Given the description of an element on the screen output the (x, y) to click on. 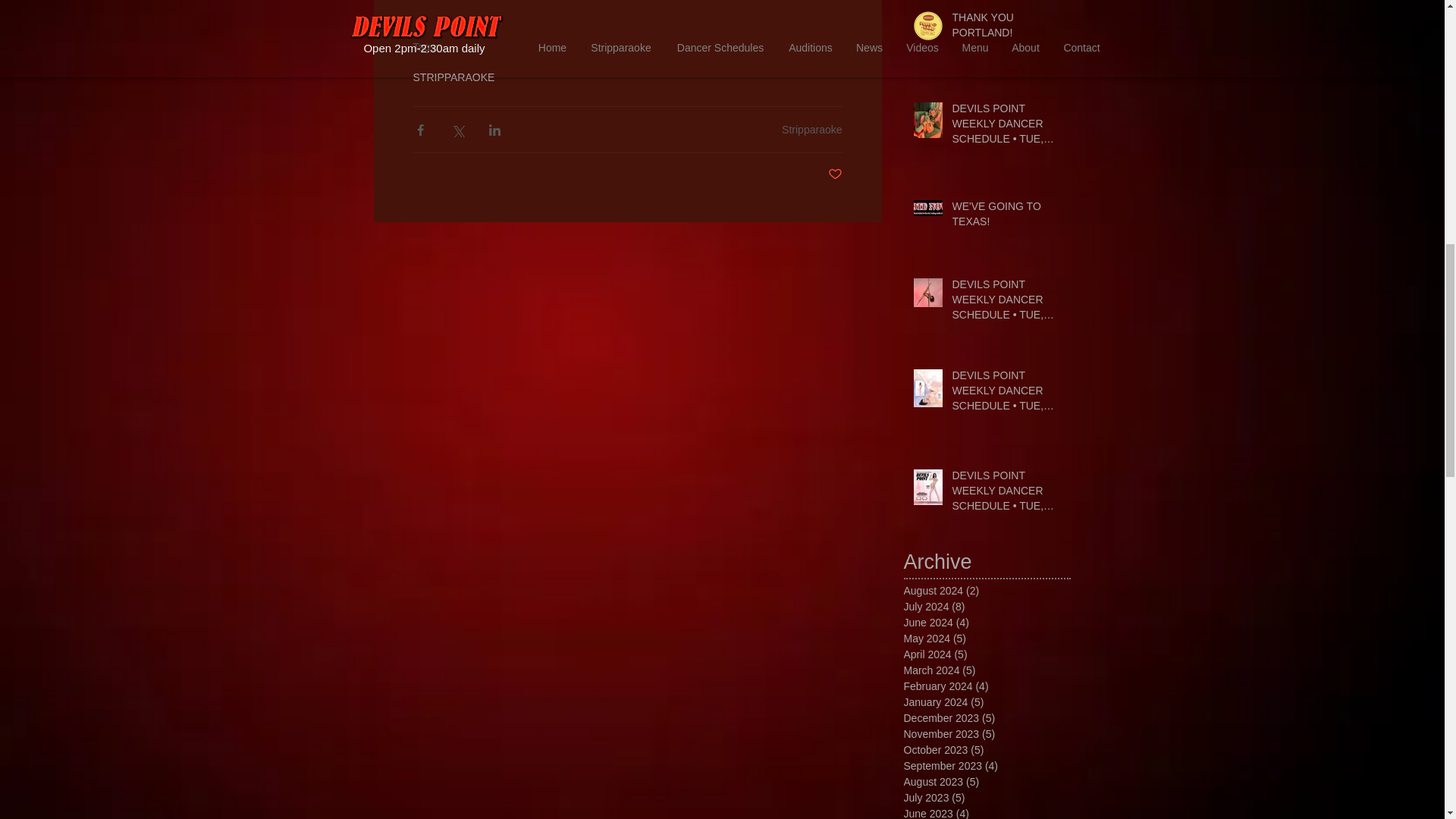
Post not marked as liked (835, 174)
THANK YOU PORTLAND! (1006, 27)
STRIPPARAOKE (453, 77)
Stripparaoke (811, 128)
WE'VE GOING TO TEXAS! (1006, 217)
